Given the description of an element on the screen output the (x, y) to click on. 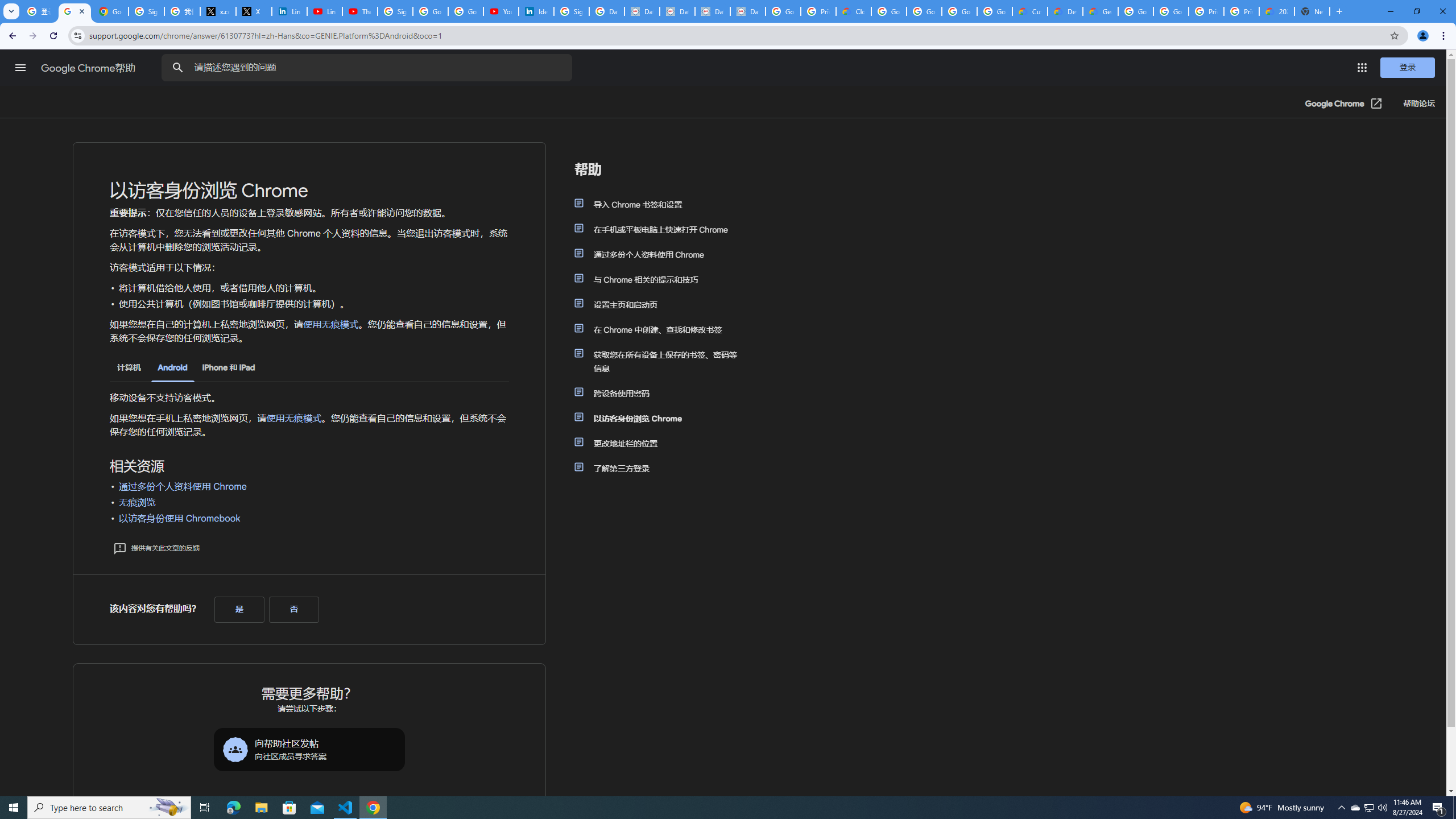
Google Cloud Platform (1135, 11)
Identity verification via Persona | LinkedIn Help (536, 11)
LinkedIn Privacy Policy (288, 11)
Android (172, 368)
